Given the description of an element on the screen output the (x, y) to click on. 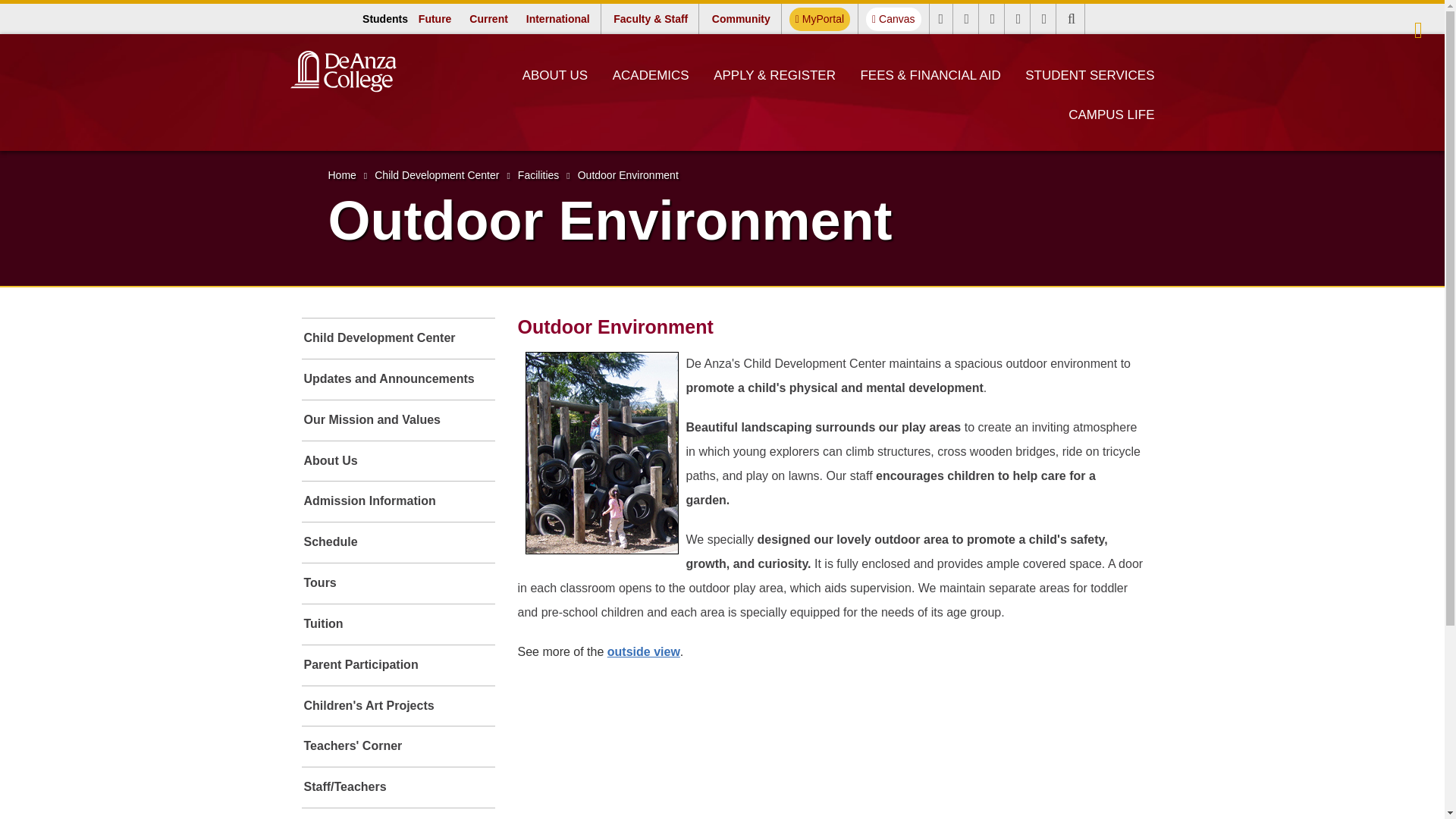
Directory (992, 19)
Facilities (538, 174)
Admission Information (398, 501)
MyPortal Login (1417, 30)
Community (740, 18)
Home (341, 174)
International (557, 18)
STUDENT SERVICES (1089, 75)
About Us (398, 461)
Child Development Center (436, 174)
Tours (398, 583)
Canvas (893, 19)
Parent Participation (398, 665)
Facilities (379, 813)
ABOUT US (555, 75)
